Given the description of an element on the screen output the (x, y) to click on. 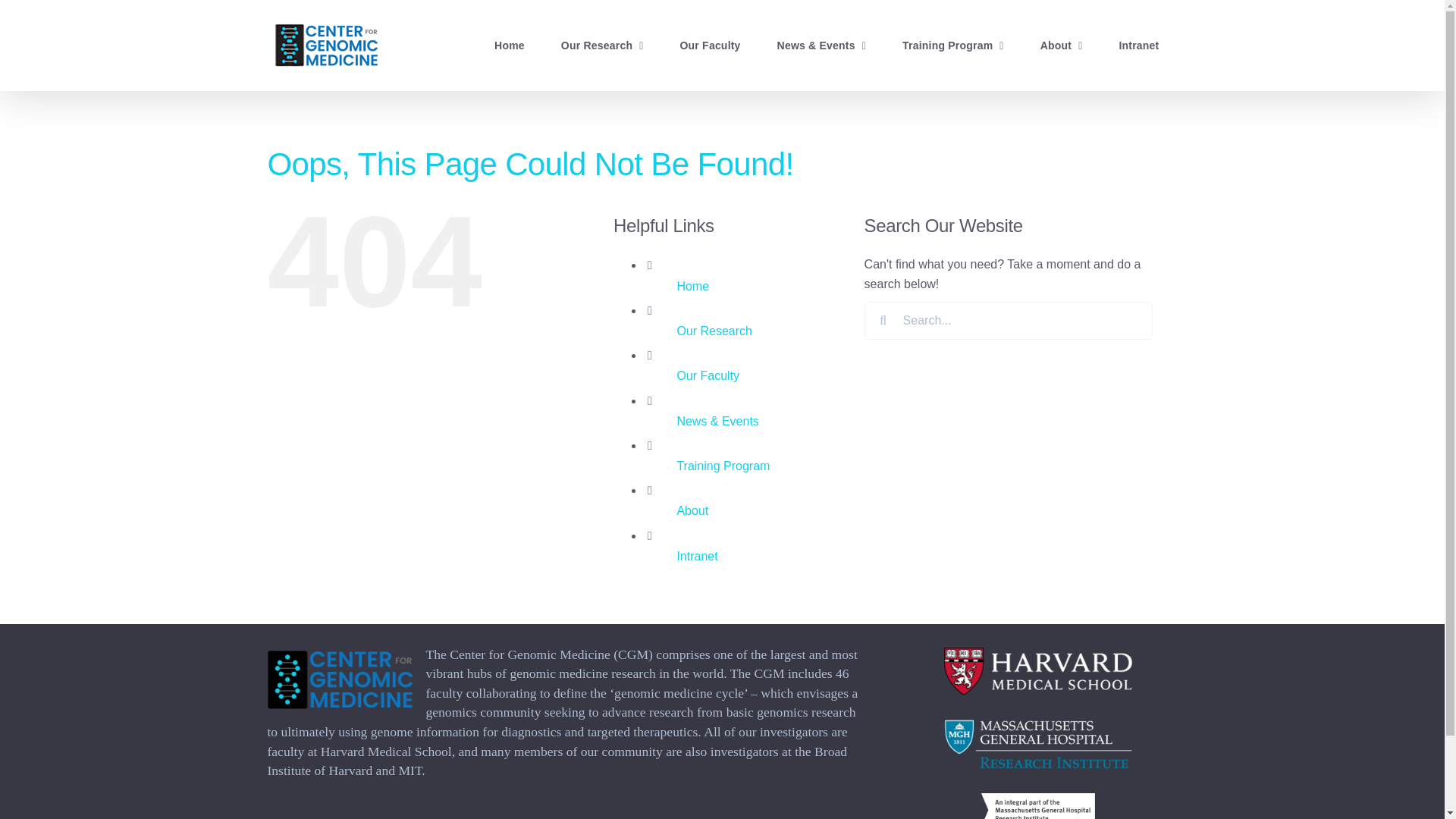
MGH Integral Part Banner (1037, 806)
Training Program (952, 45)
Our Faculty (709, 45)
Our Research (602, 45)
